Given the description of an element on the screen output the (x, y) to click on. 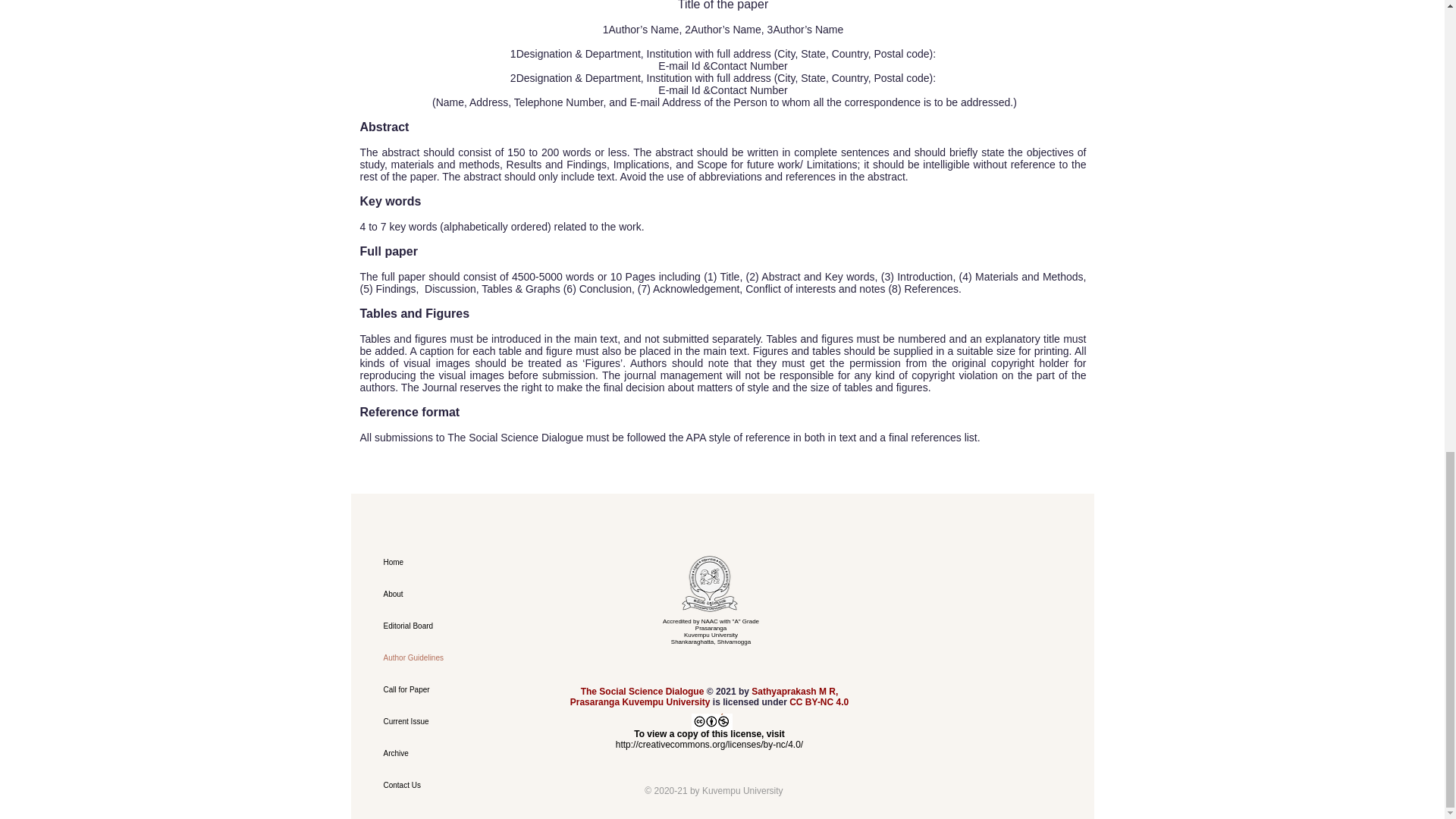
Editorial Board (450, 626)
Contact Us (450, 785)
Twitter Follow (710, 667)
About (450, 594)
Home (450, 562)
Archive (450, 753)
Current Issue (450, 721)
Author Guidelines (450, 658)
Call for Paper (450, 689)
